Given the description of an element on the screen output the (x, y) to click on. 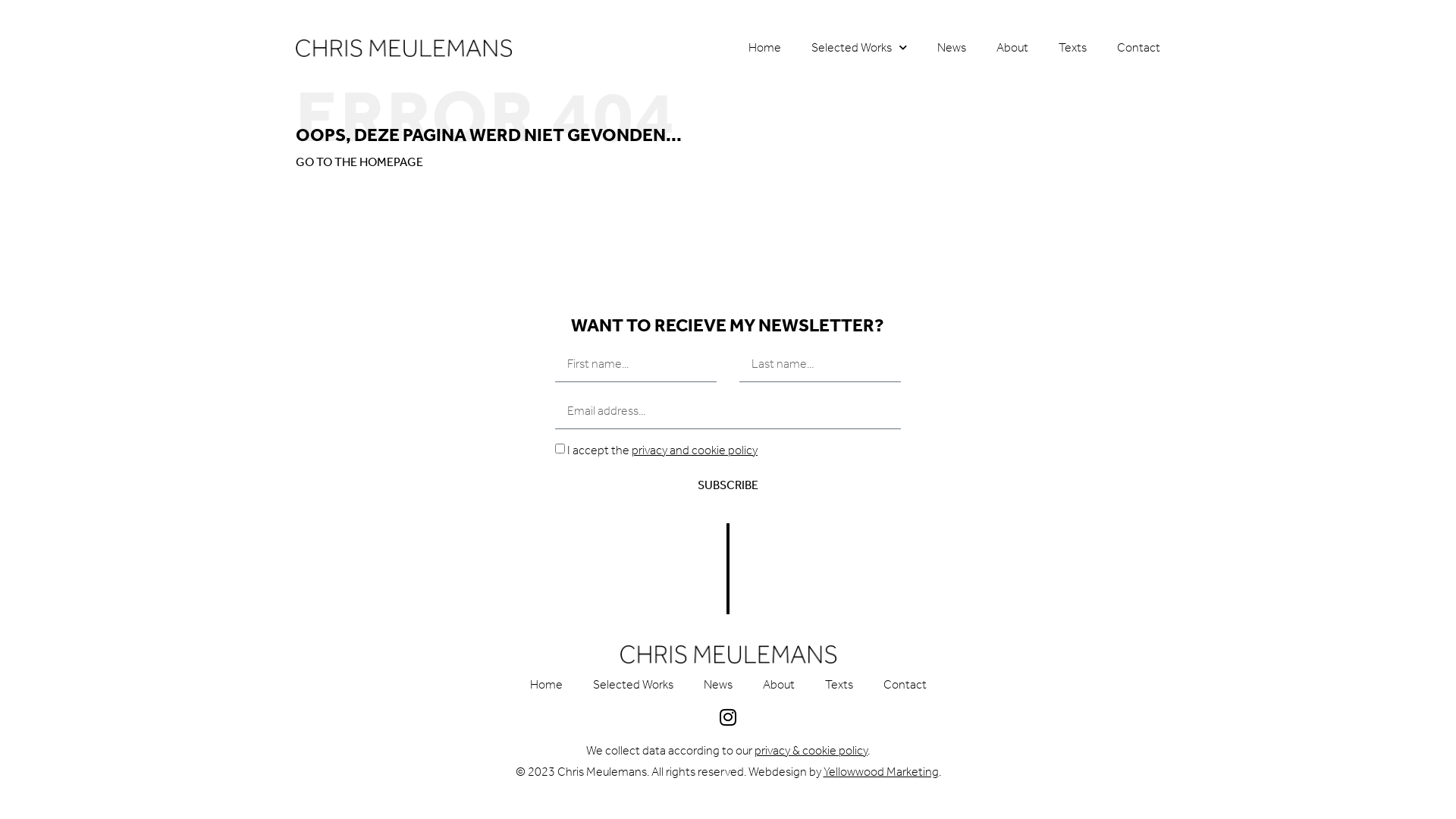
GO TO THE HOMEPAGE Element type: text (359, 162)
Home Element type: text (545, 684)
Selected Works Element type: text (859, 47)
Selected Works Element type: text (632, 684)
Home Element type: text (764, 47)
privacy and cookie policy Element type: text (694, 449)
Contact Element type: text (1138, 47)
About Element type: text (1012, 47)
Texts Element type: text (1072, 47)
News Element type: text (717, 684)
News Element type: text (951, 47)
Texts Element type: text (838, 684)
privacy & cookie policy Element type: text (810, 750)
SUBSCRIBE Element type: text (727, 485)
About Element type: text (778, 684)
Contact Element type: text (904, 684)
Yellowwood Marketing Element type: text (880, 771)
